Given the description of an element on the screen output the (x, y) to click on. 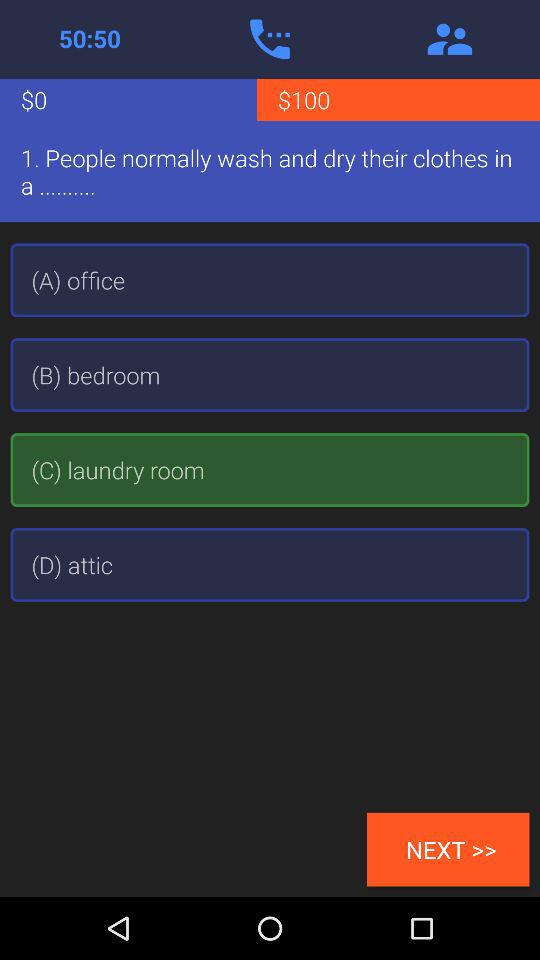
turn off the app above (d) attic (269, 469)
